Given the description of an element on the screen output the (x, y) to click on. 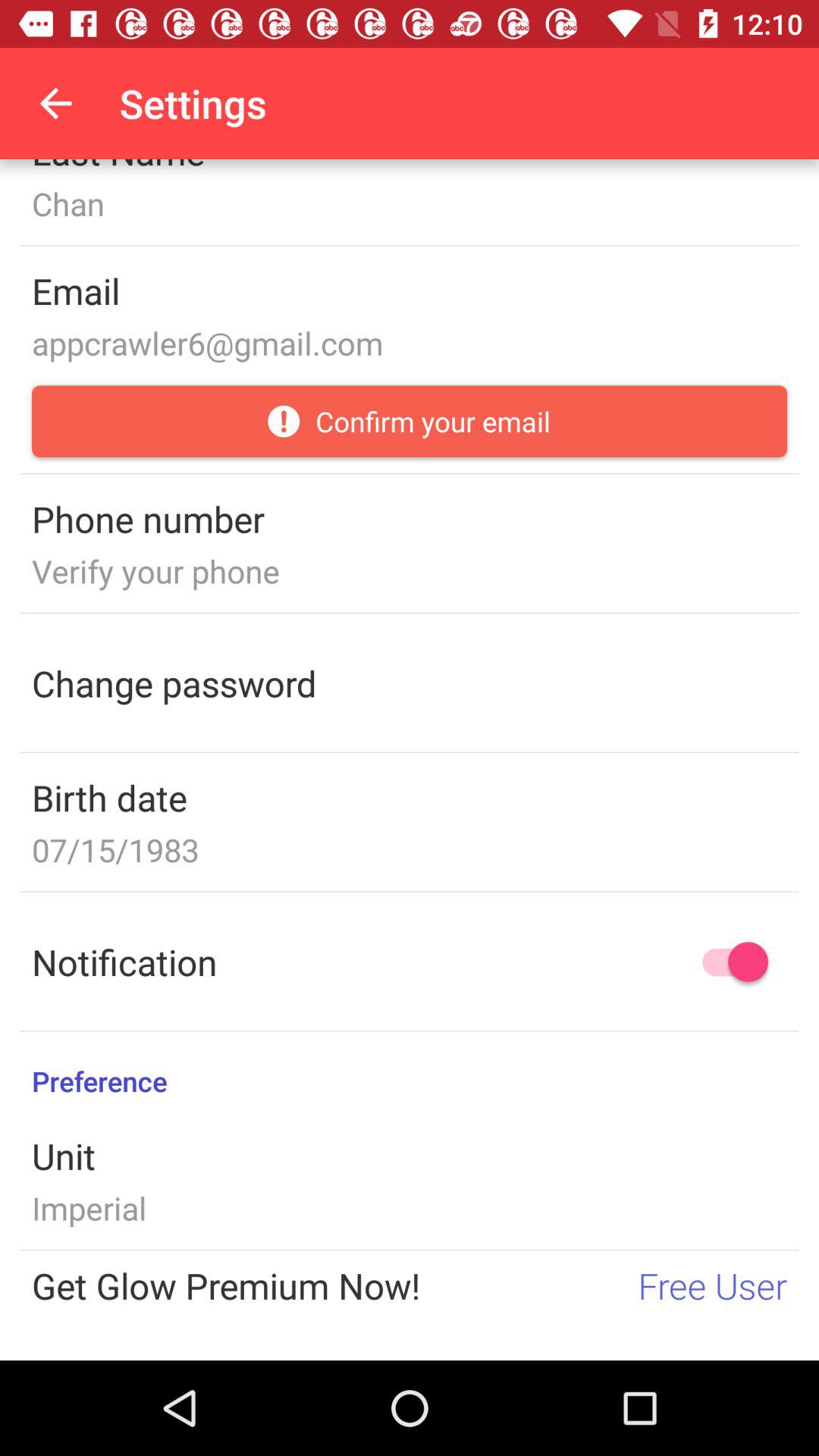
open icon to the right of notification item (727, 962)
